Given the description of an element on the screen output the (x, y) to click on. 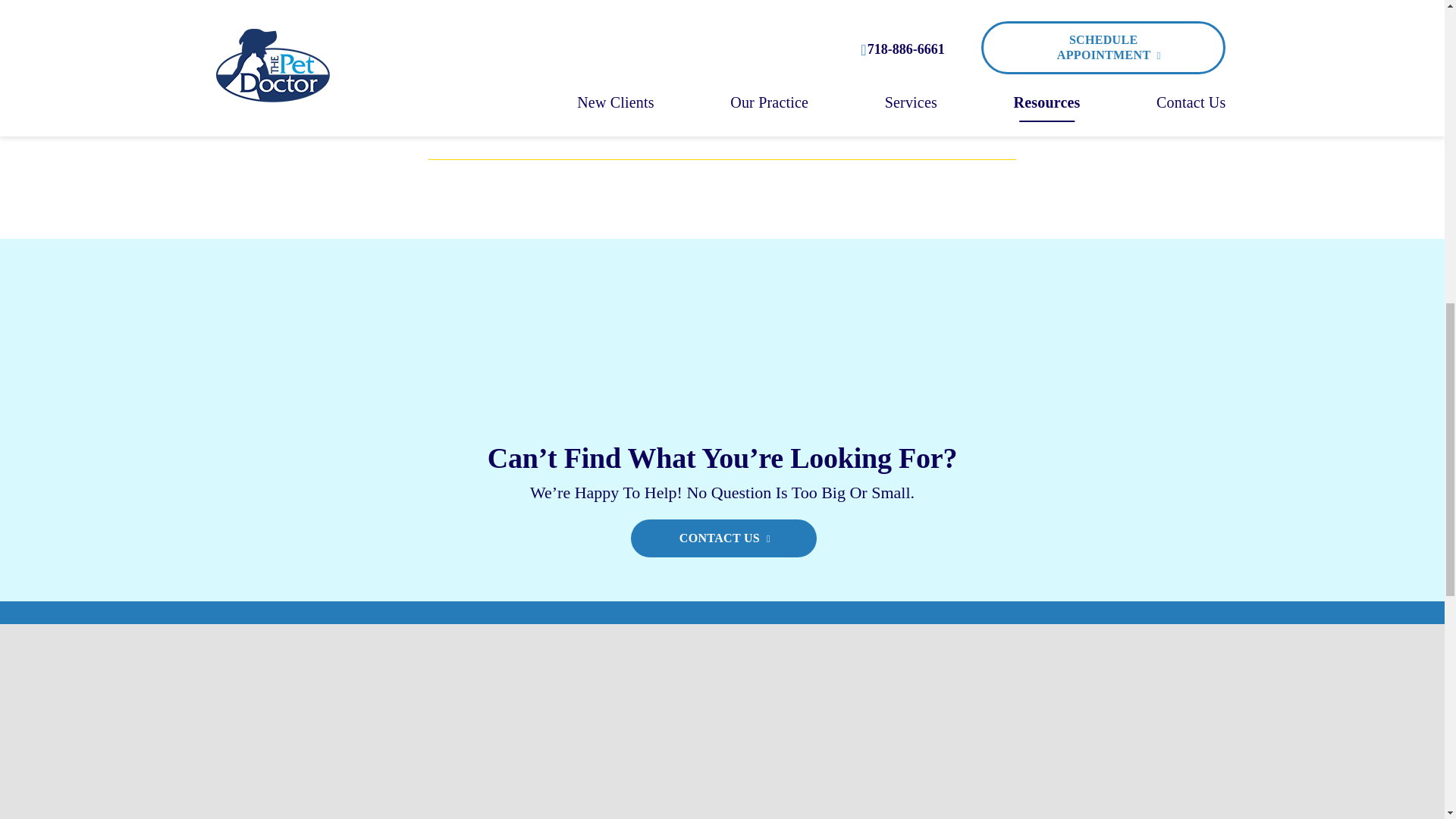
CONTACT US (723, 538)
contact us (455, 118)
Forms (716, 27)
Contact Us (716, 115)
